Given the description of an element on the screen output the (x, y) to click on. 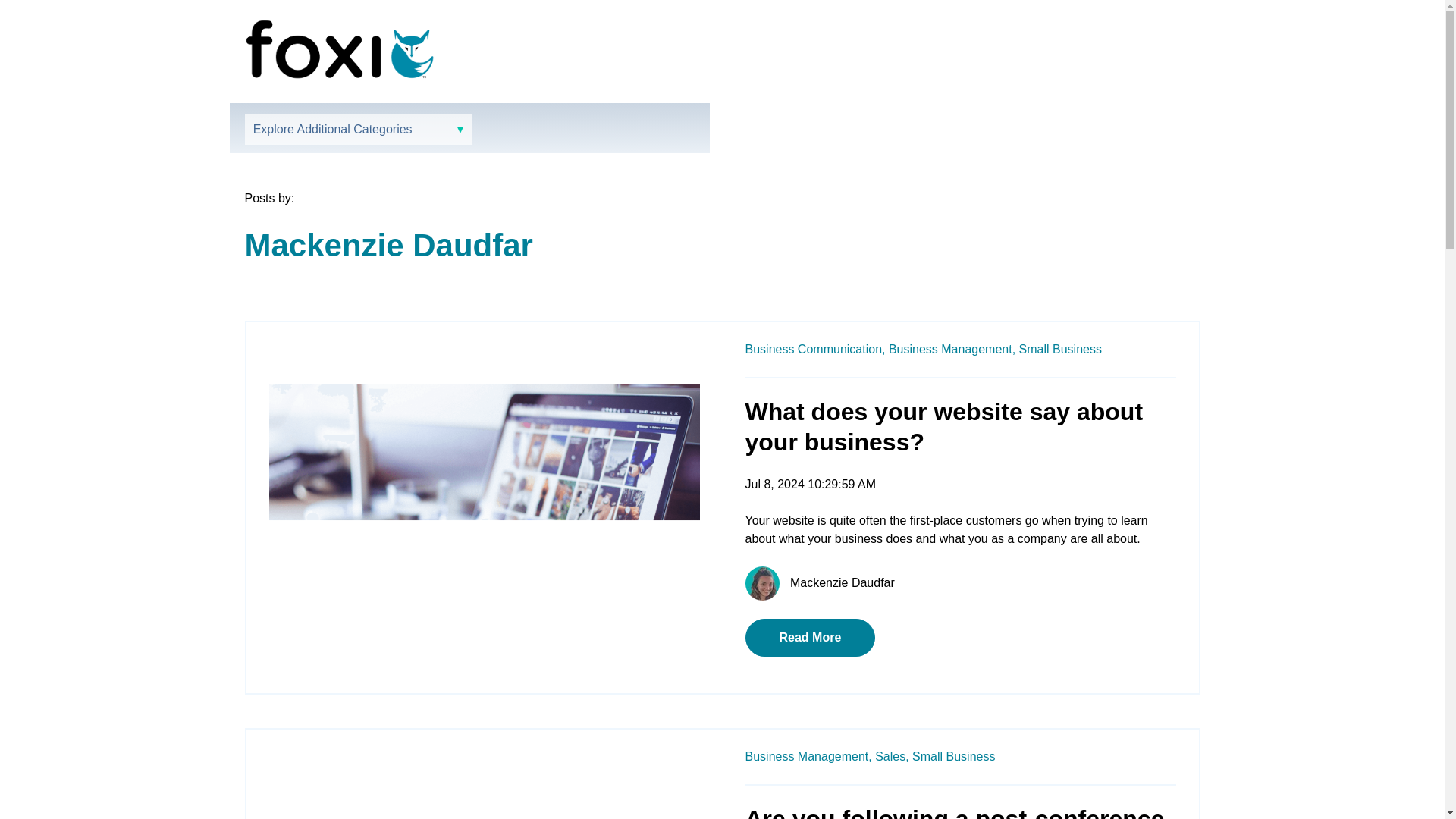
Are you following a post-conference checklist? (953, 812)
Foxie.com (338, 48)
Read More (809, 637)
Business Management, (951, 349)
Mackenzie Daudfar (842, 581)
Business Communication, (814, 349)
Small Business (1060, 349)
Sales, (891, 756)
What does your website say about your business? (943, 426)
Small Business (953, 756)
